Given the description of an element on the screen output the (x, y) to click on. 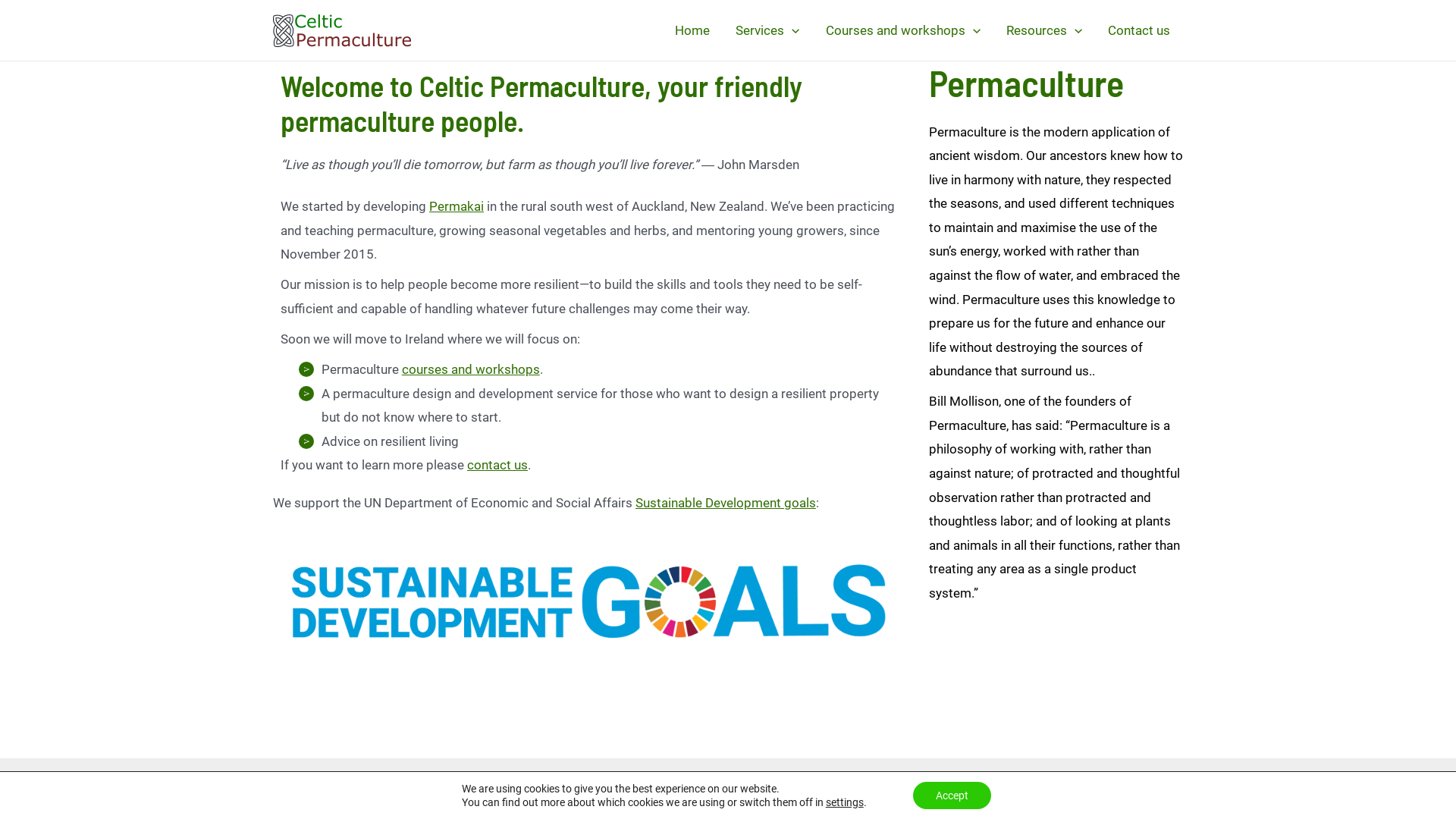
Home Element type: text (692, 30)
Resources Element type: text (1044, 30)
Contact us Element type: text (1139, 30)
courses and workshops Element type: text (470, 368)
settings Element type: text (844, 802)
Courses and workshops Element type: text (902, 30)
Services Element type: text (767, 30)
contact us Element type: text (497, 464)
Accept Element type: text (952, 795)
Permakai Element type: text (456, 205)
Sustainable Development goals Element type: text (725, 502)
